Given the description of an element on the screen output the (x, y) to click on. 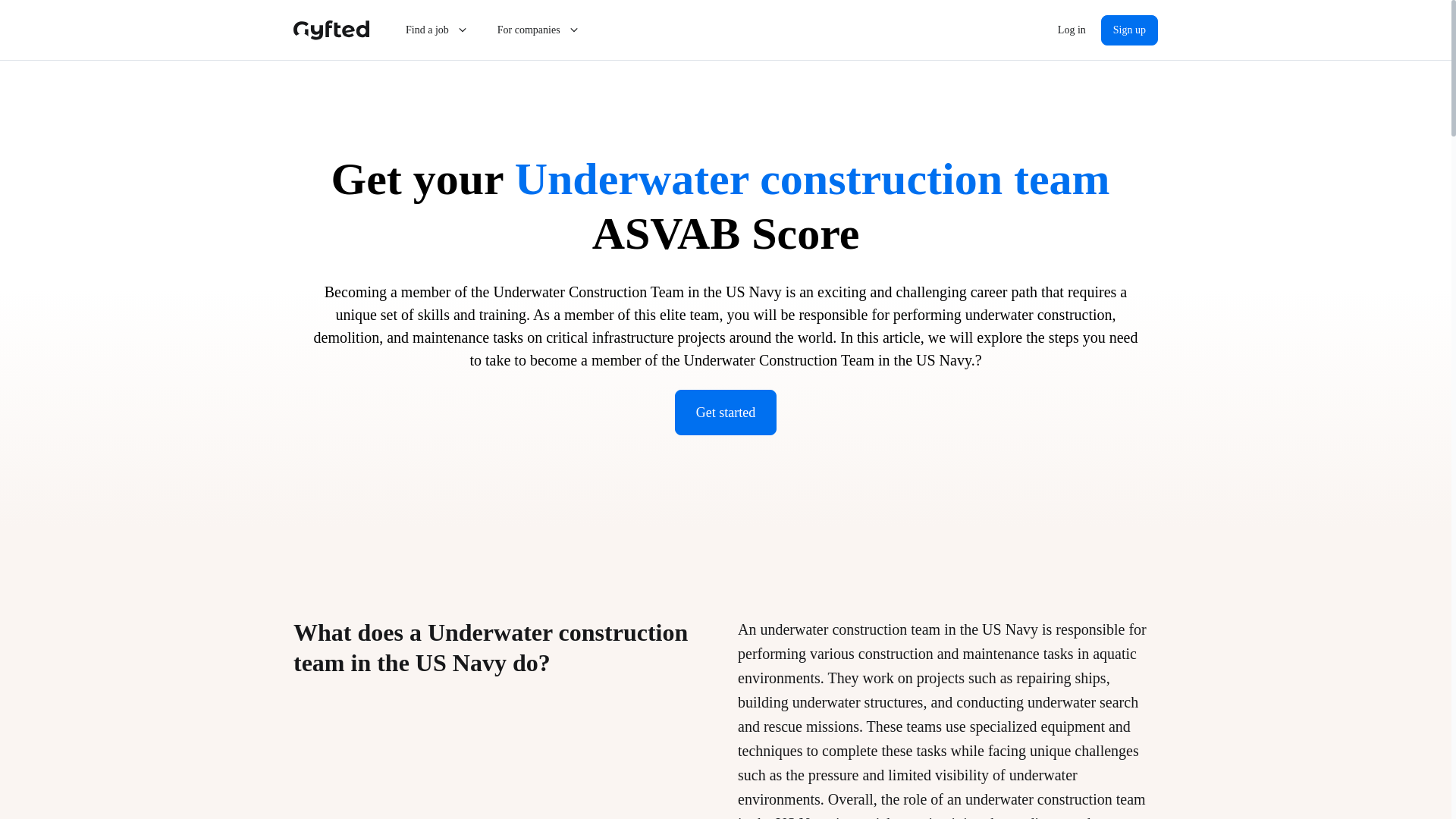
Log in (1071, 30)
For companies (539, 30)
Sign up (1128, 30)
Find a job (437, 30)
Get started (725, 411)
